Given the description of an element on the screen output the (x, y) to click on. 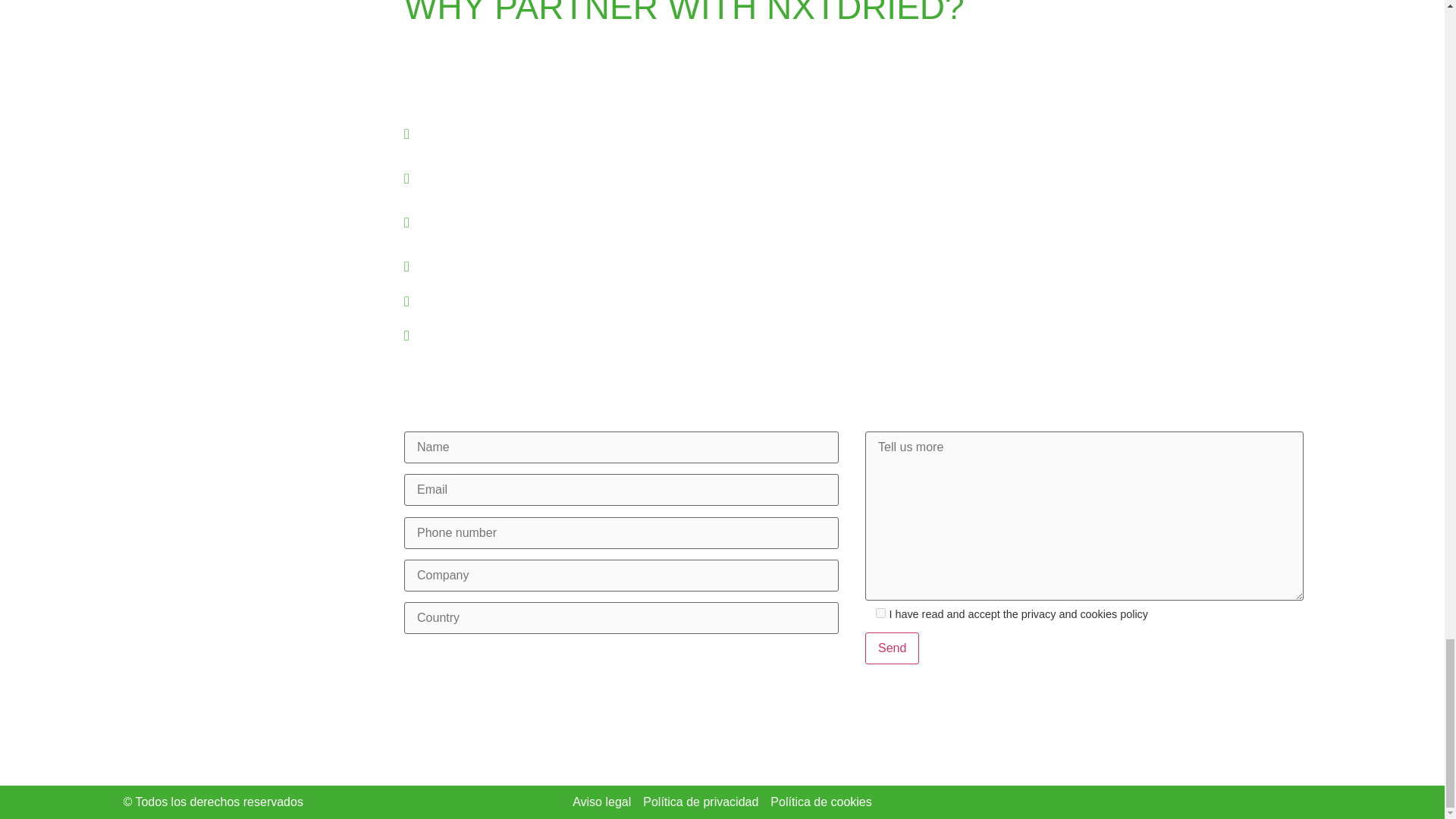
Send (891, 648)
1 (880, 613)
